Given the description of an element on the screen output the (x, y) to click on. 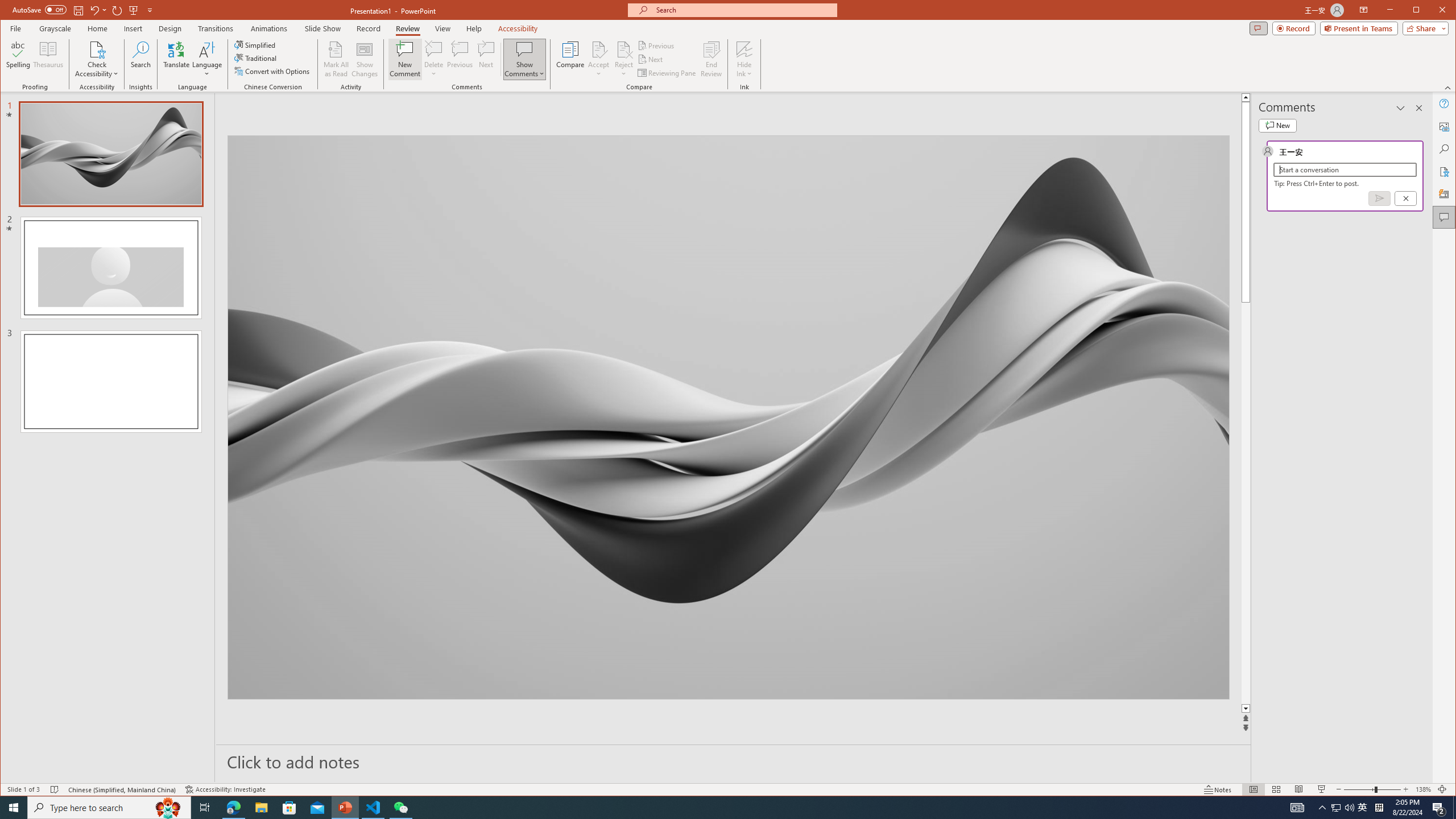
Traditional (256, 57)
Spelling... (18, 59)
WeChat - 1 running window (400, 807)
Reject Change (623, 48)
